Given the description of an element on the screen output the (x, y) to click on. 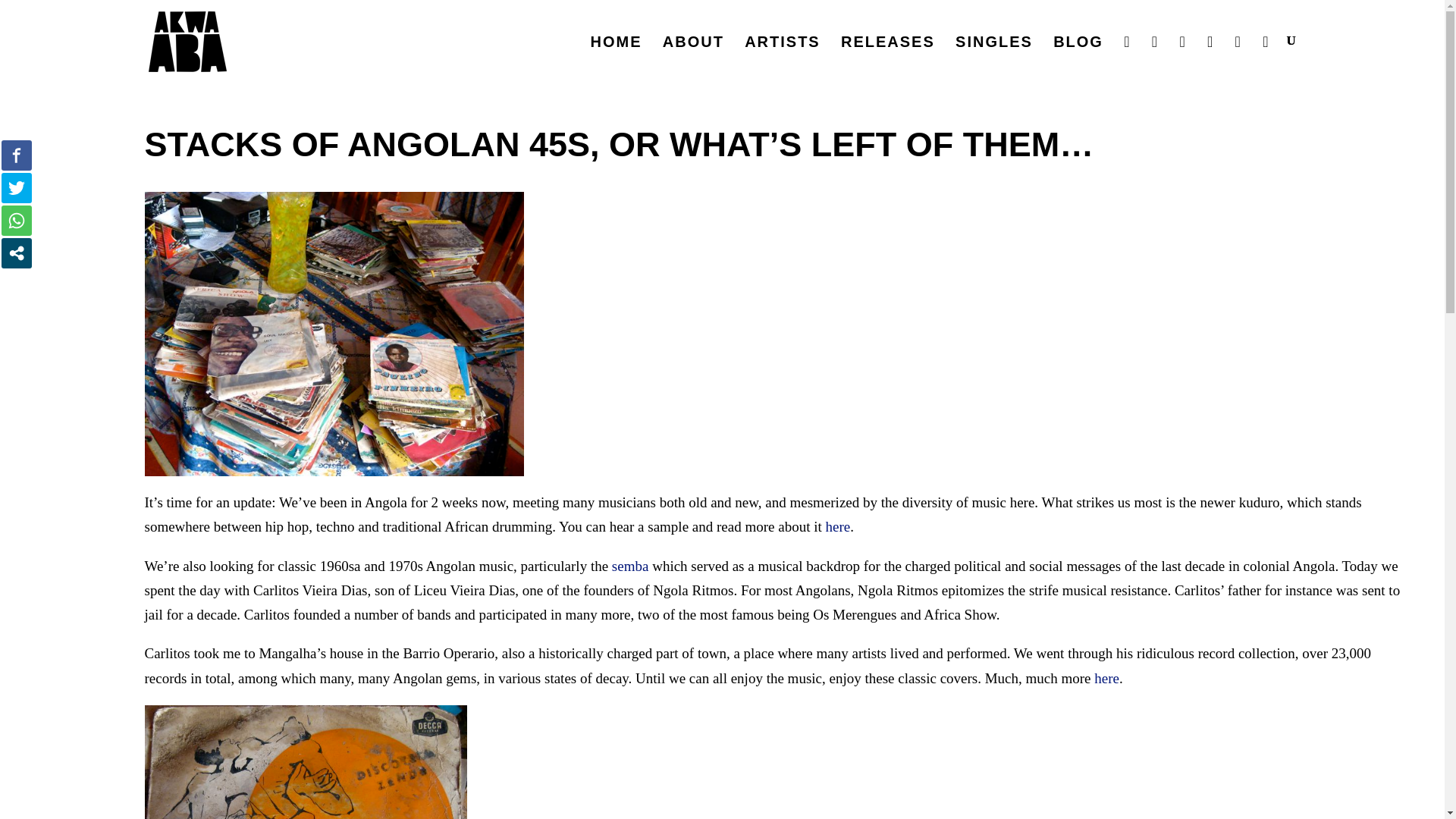
Tweet (16, 187)
here (1106, 678)
here (837, 526)
ABOUT (692, 58)
HOME (615, 58)
ARTISTS (782, 58)
Share on WhatsApp (16, 220)
semba (630, 565)
BLOG (1077, 58)
RELEASES (887, 58)
SINGLES (993, 58)
Share on Facebook (16, 155)
Open modal social networks (16, 253)
